Given the description of an element on the screen output the (x, y) to click on. 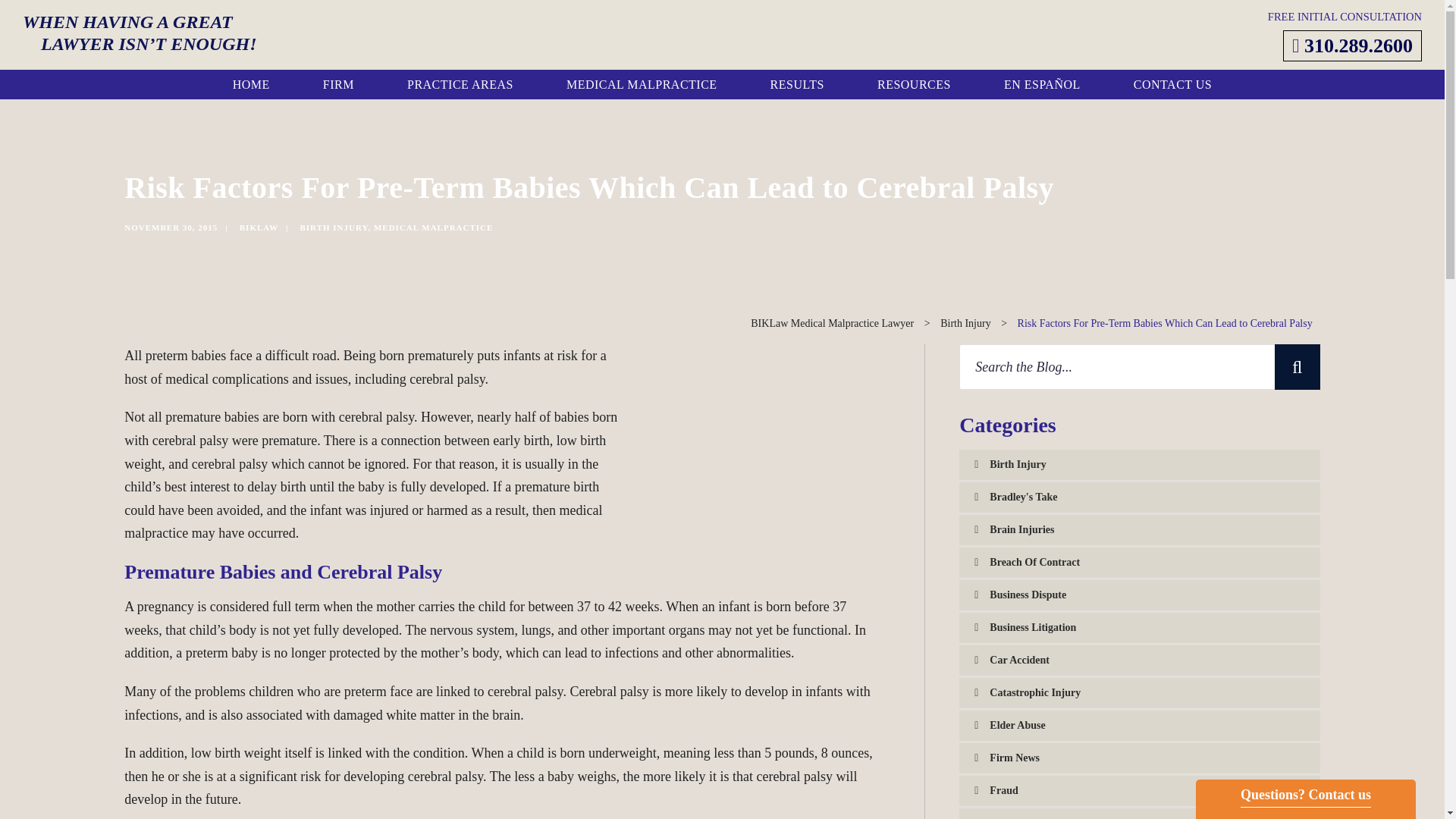
Go to the Birth Injury Category archives. (965, 323)
Go to BIKLaw Medical Malpractice Lawyer. (832, 323)
Posts by BIKLAW (259, 226)
